Given the description of an element on the screen output the (x, y) to click on. 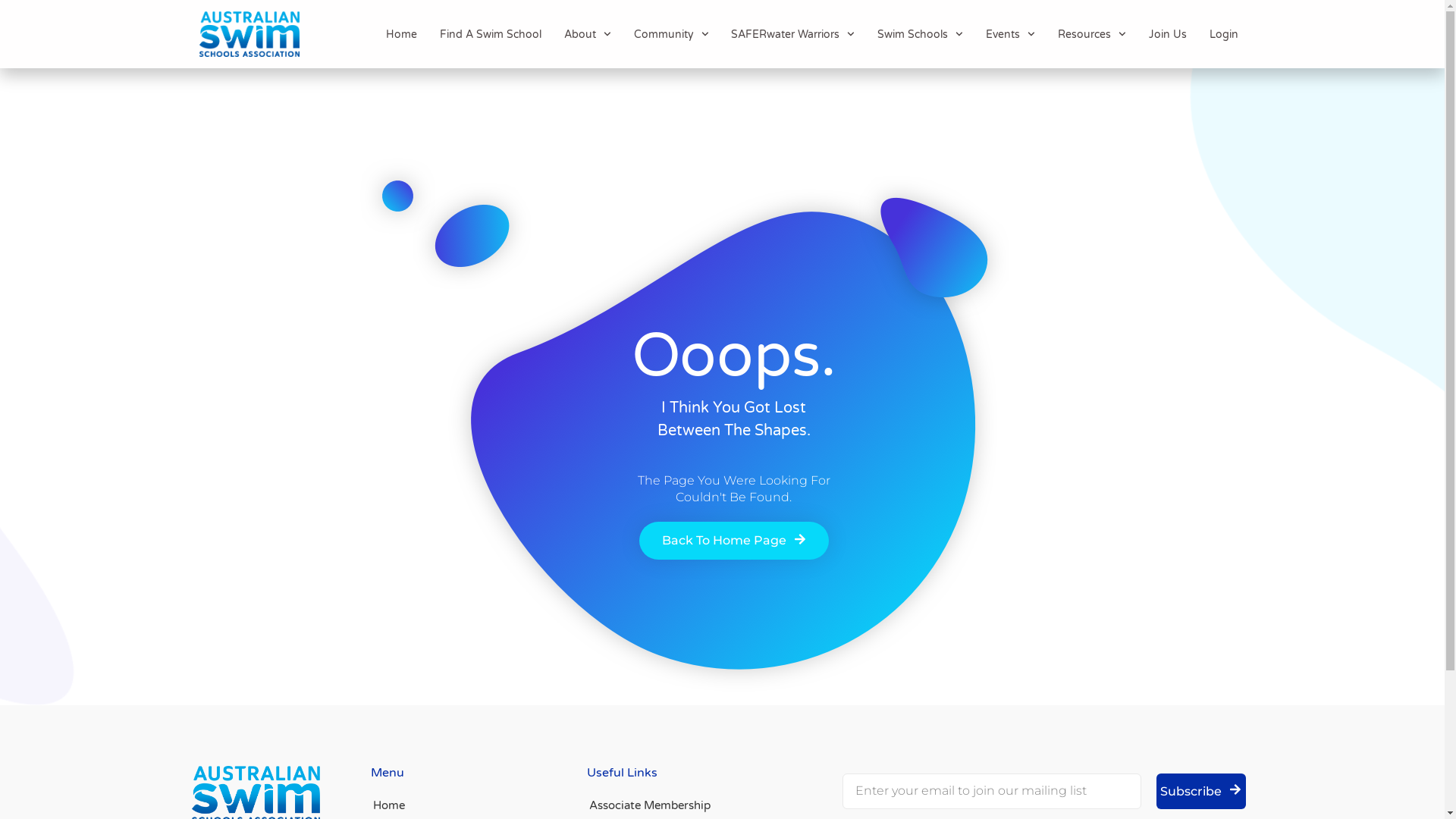
Home Element type: text (426, 805)
Events Element type: text (1010, 34)
Login Element type: text (1222, 34)
Associate Membership Element type: text (696, 805)
Subscribe Element type: text (1200, 791)
Find A Swim School Element type: text (490, 34)
Home Element type: text (401, 34)
Community Element type: text (671, 34)
SAFERwater Warriors Element type: text (792, 34)
Back To Home Page Element type: text (733, 540)
Swim Schools Element type: text (920, 34)
About Element type: text (587, 34)
Resources Element type: text (1091, 34)
Join Us Element type: text (1167, 34)
